Given the description of an element on the screen output the (x, y) to click on. 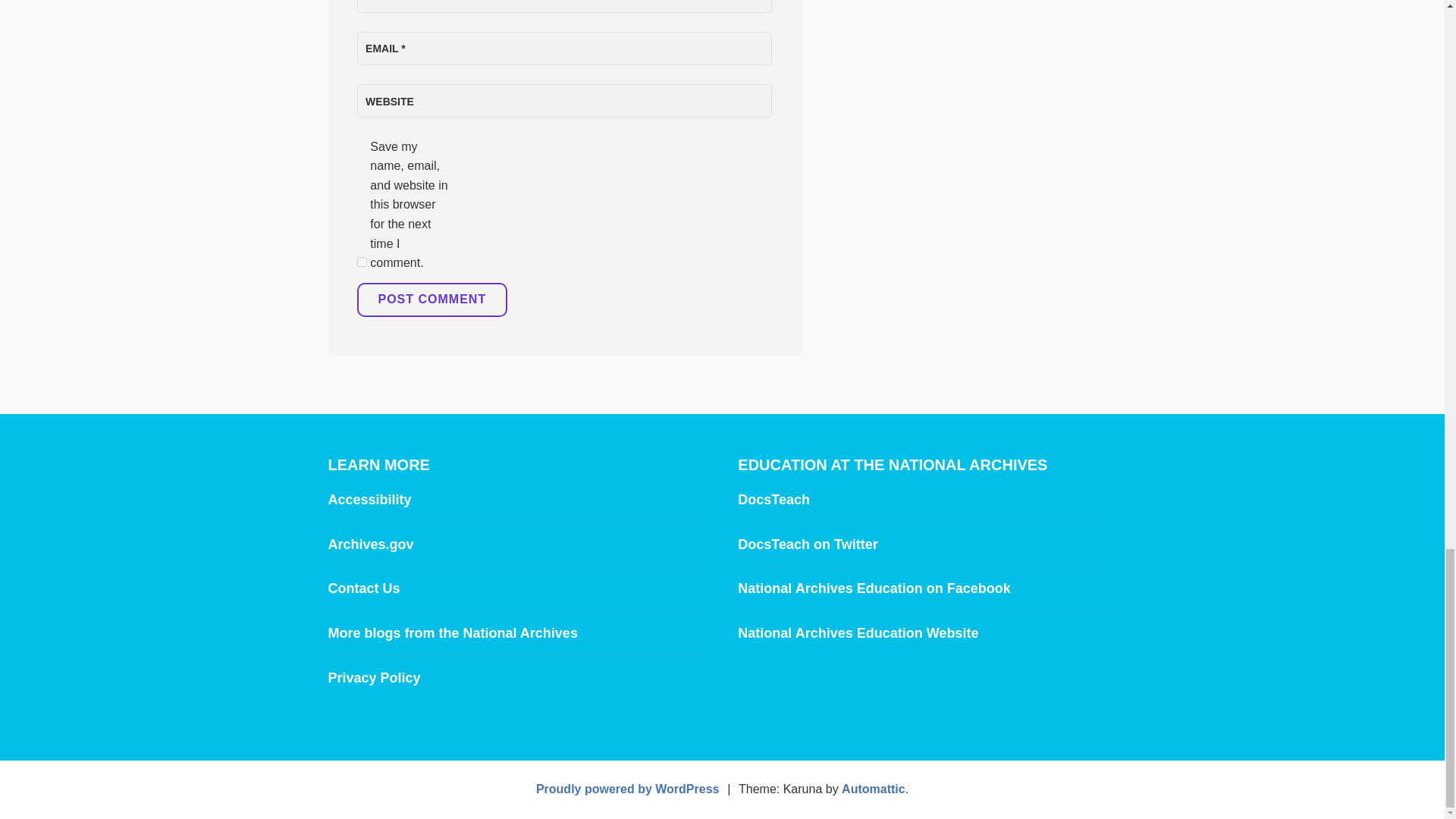
yes (361, 261)
Post Comment (431, 299)
Post Comment (431, 299)
National Archives privacy policy (373, 677)
Accessibility information on archives.gov (368, 499)
U.S. National Archives Blogroll (451, 632)
Contact information (362, 588)
